Given the description of an element on the screen output the (x, y) to click on. 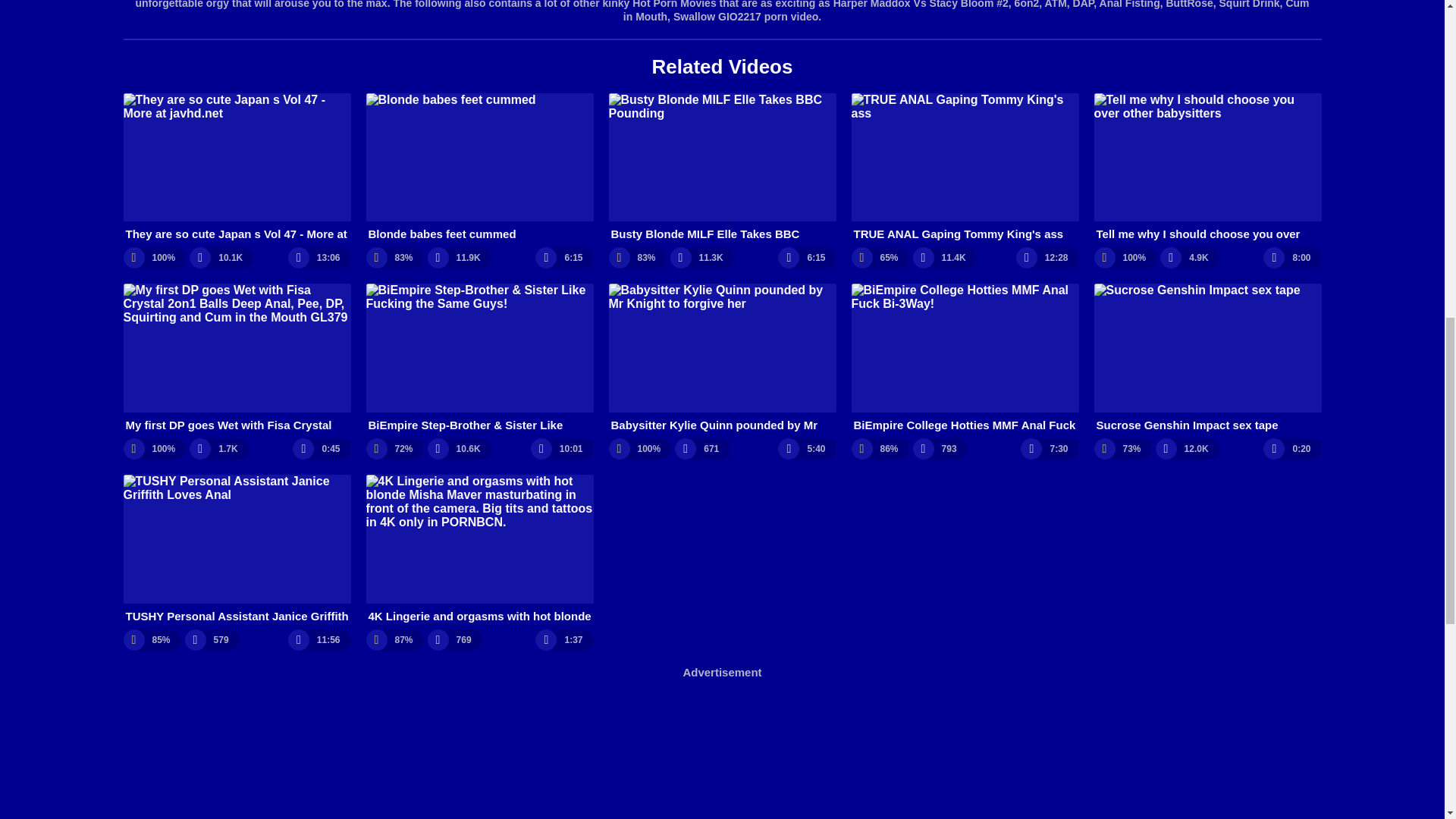
Tell me why I should choose you over other babysitters (1206, 166)
Sucrose Genshin Impact sex tape (1206, 358)
BiEmpire College Hotties MMF Anal Fuck Bi-3Way! (964, 358)
TUSHY Personal Assistant Janice Griffith Loves Anal (236, 549)
Babysitter Kylie Quinn pounded by Mr Knight to forgive her (721, 358)
Blonde babes feet cummed (478, 166)
Babysitter Kylie Quinn pounded by Mr Knight to forgive her (721, 358)
Busty Blonde MILF Elle Takes BBC Pounding (721, 166)
TUSHY Personal Assistant Janice Griffith Loves Anal (236, 549)
